Given the description of an element on the screen output the (x, y) to click on. 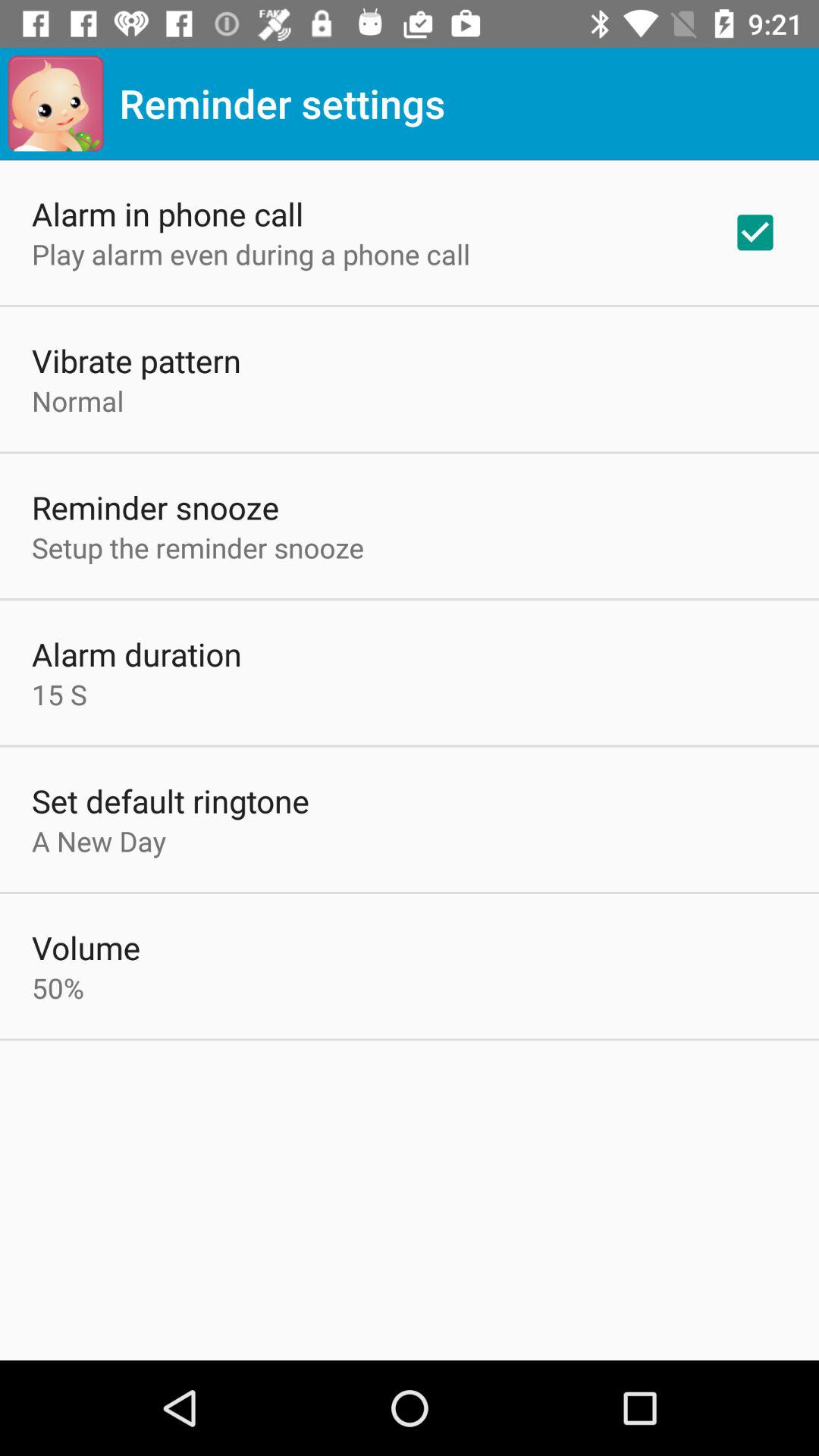
choose the item above volume item (98, 840)
